Given the description of an element on the screen output the (x, y) to click on. 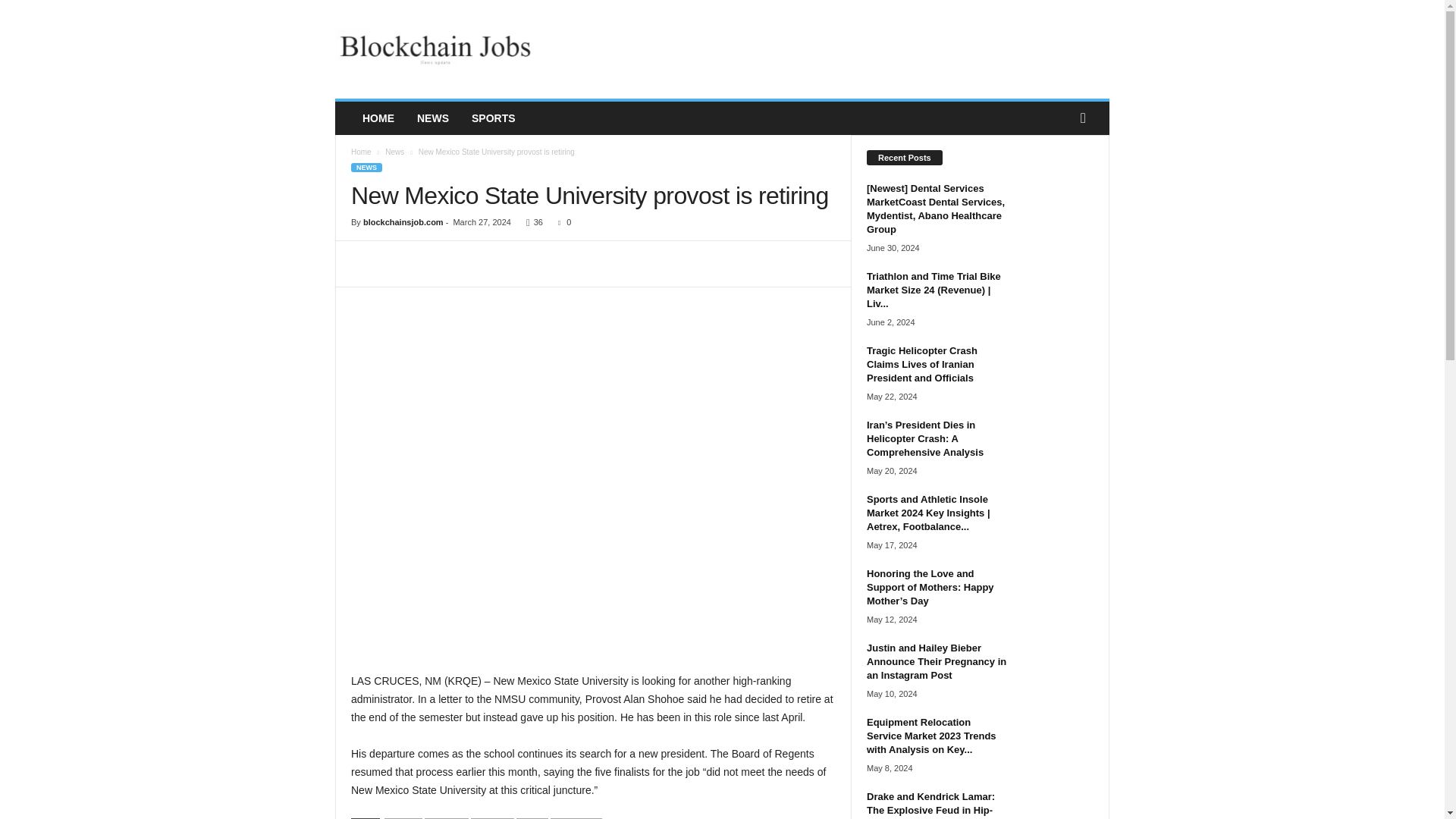
SPORTS (493, 118)
NEWS (365, 166)
News (394, 152)
PROVOST (446, 818)
0 (560, 221)
UNIVERSITY (576, 818)
NEWS (433, 118)
Home (360, 152)
HOME (378, 118)
View all posts in News (394, 152)
blockchainsjob.com (403, 221)
RETIRING (491, 818)
Blockchain Jobs (437, 48)
